Given the description of an element on the screen output the (x, y) to click on. 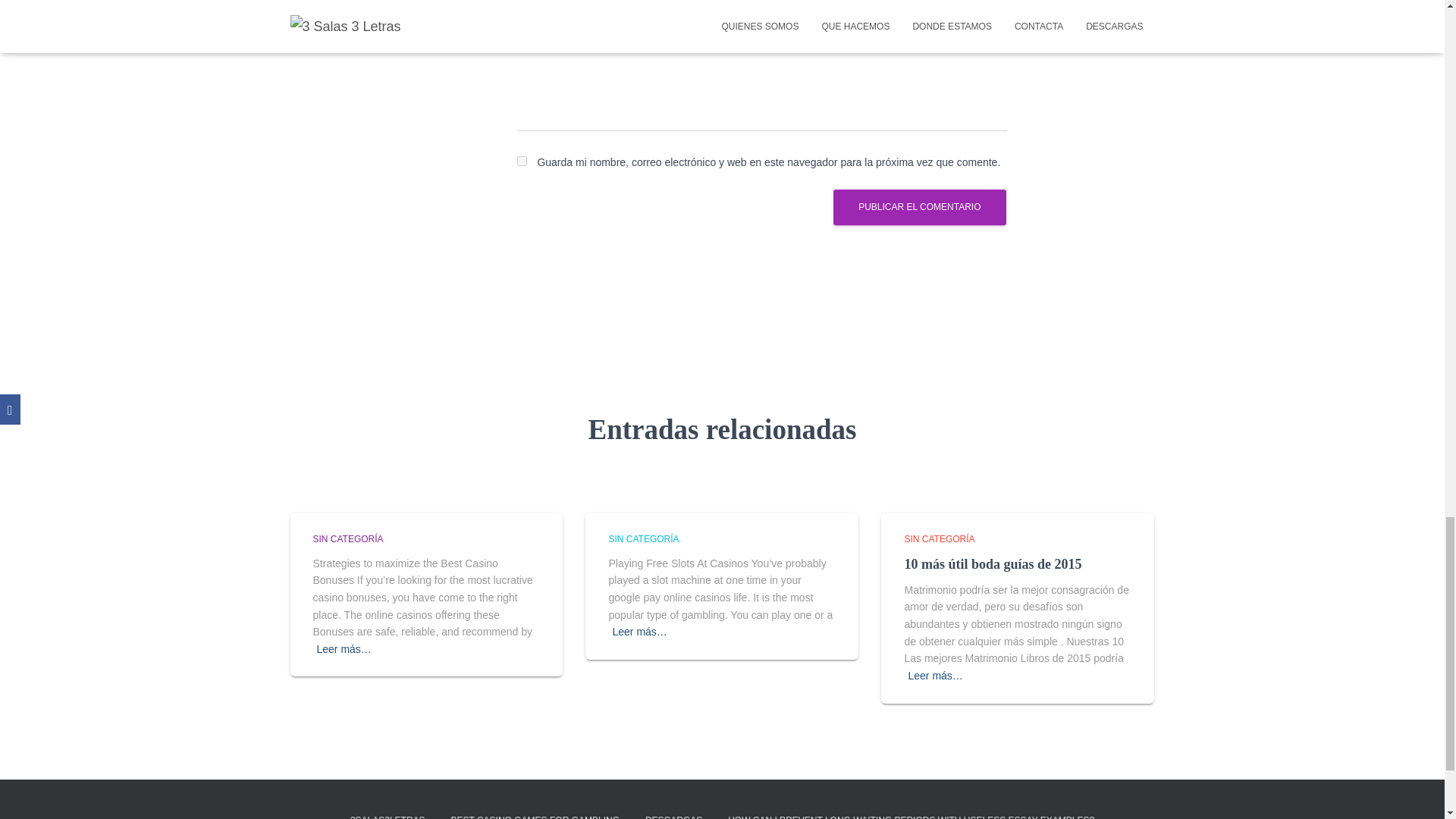
DESCARGAS (673, 810)
Publicar el comentario (919, 207)
BEST CASINO GAMES FOR GAMBLING (534, 810)
3SALAS3LETRAS (387, 810)
Publicar el comentario (919, 207)
yes (521, 161)
